Given the description of an element on the screen output the (x, y) to click on. 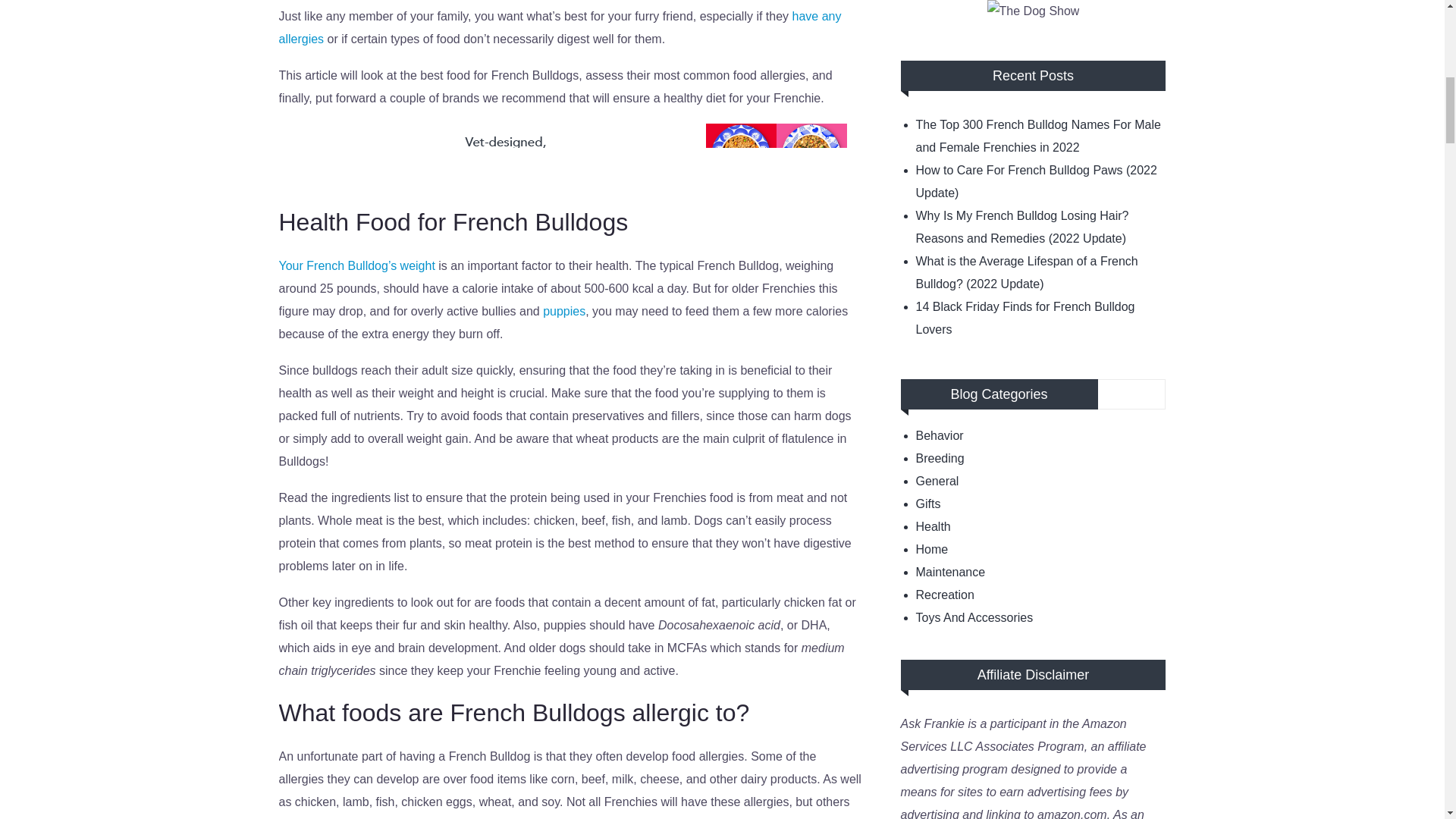
puppies (564, 310)
have any allergies (560, 27)
